Given the description of an element on the screen output the (x, y) to click on. 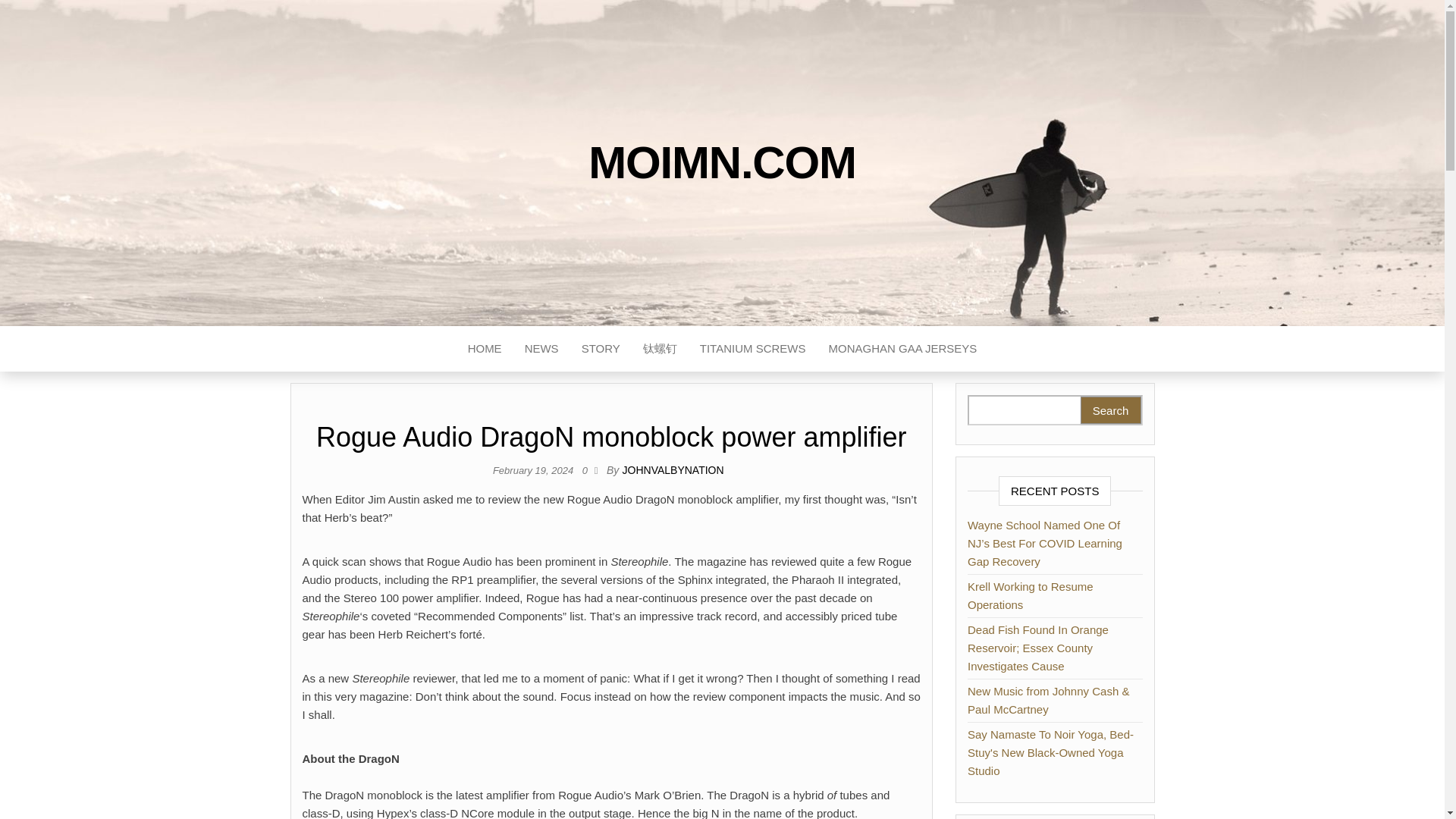
Comment on Rogue Audio DragoN monoblock power amplifier (588, 470)
monaghan gaa jerseys (902, 348)
Story (600, 348)
JOHNVALBYNATION (673, 469)
Search (1110, 410)
News (541, 348)
TITANIUM SCREWS (752, 348)
MONAGHAN GAA JERSEYS (902, 348)
MOIMN.COM (722, 162)
